Given the description of an element on the screen output the (x, y) to click on. 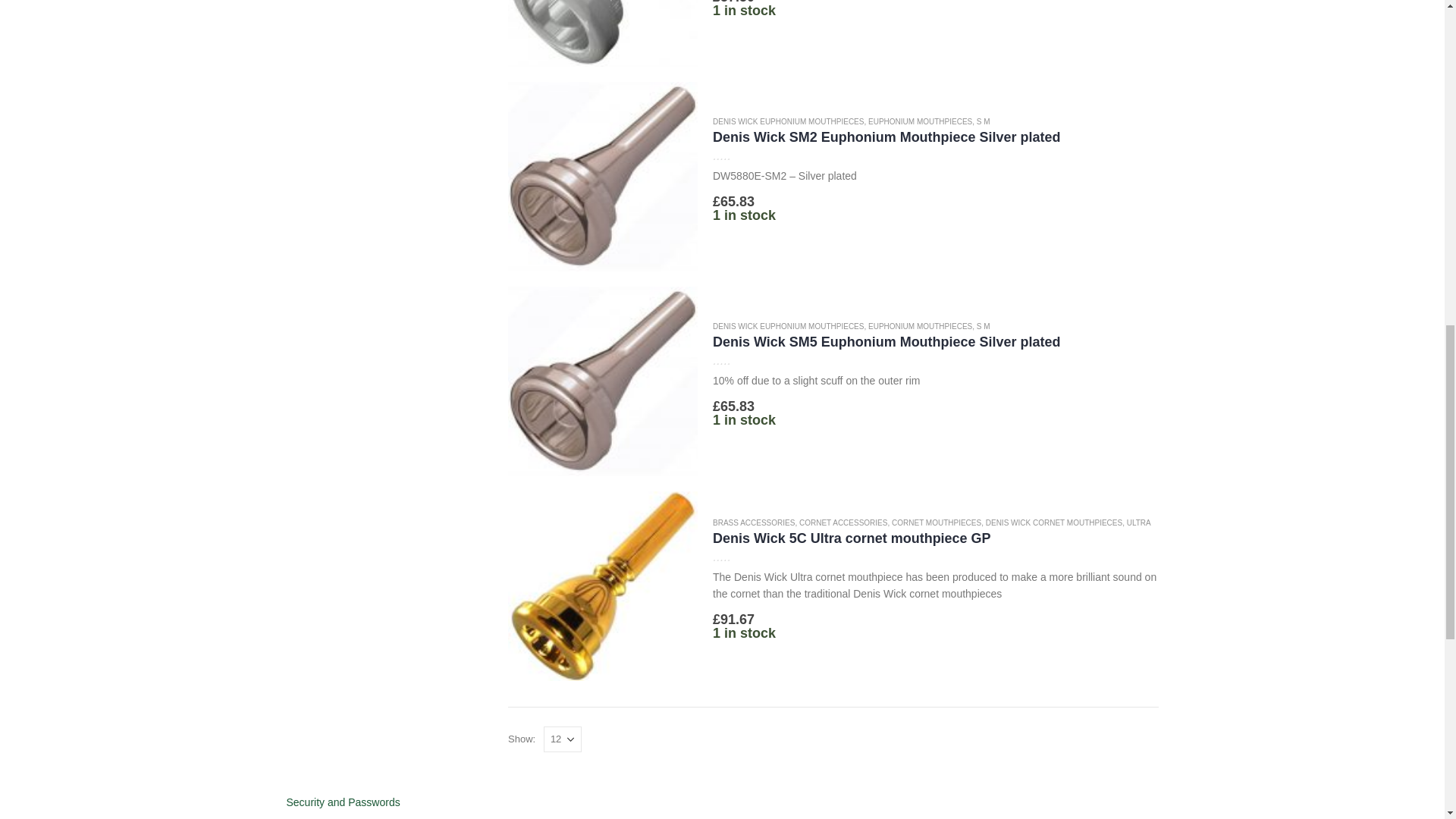
DENIS WICK EUPHONIUM MOUTHPIECES (788, 121)
Denis Wick SM2 Euphonium Mouthpiece Silver plated (935, 136)
0 (737, 155)
S M (983, 121)
0 (737, 556)
EUPHONIUM MOUTHPIECES (919, 121)
0 (737, 360)
